Given the description of an element on the screen output the (x, y) to click on. 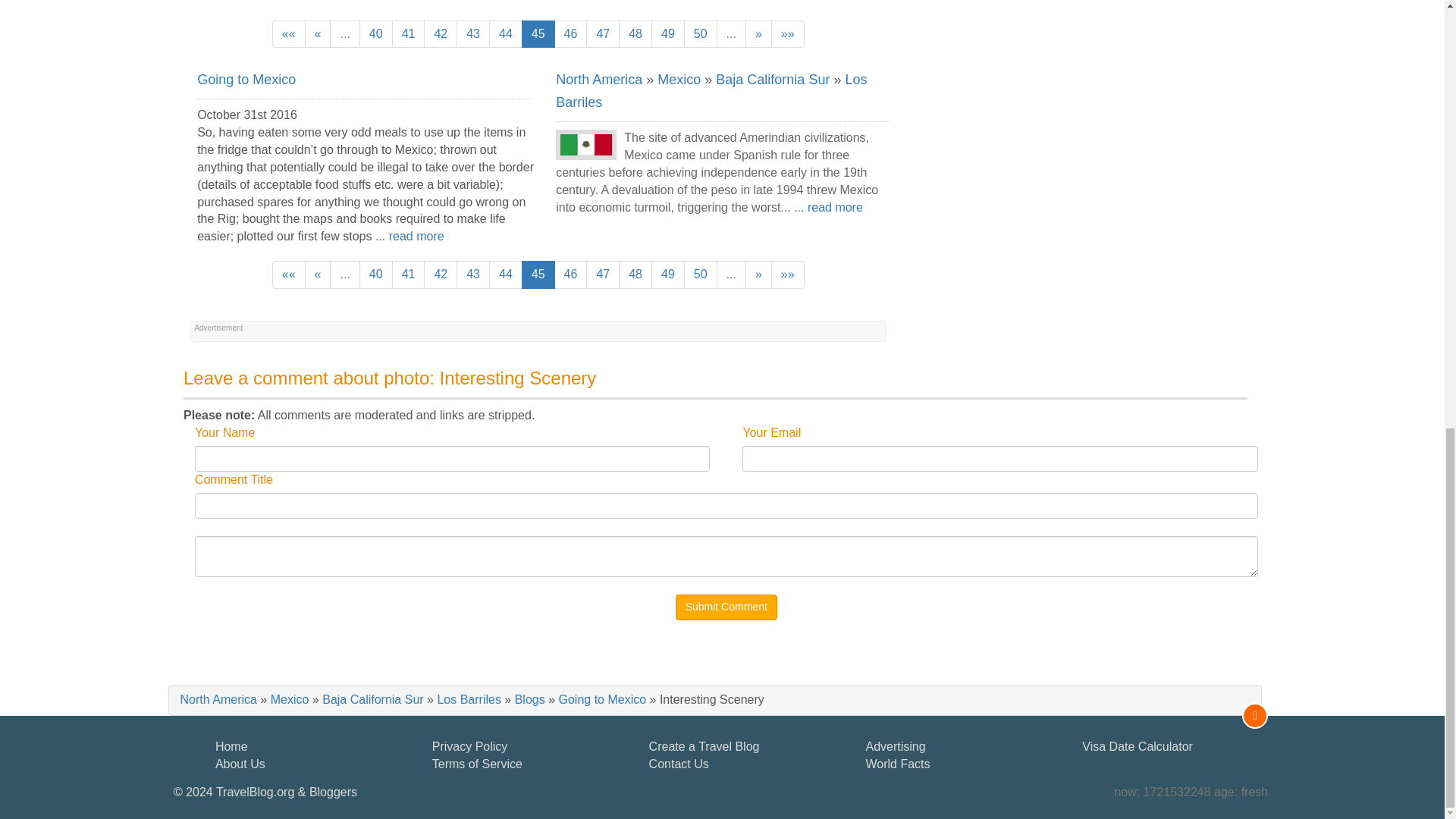
Previous (317, 34)
First (288, 34)
next (758, 34)
